Given the description of an element on the screen output the (x, y) to click on. 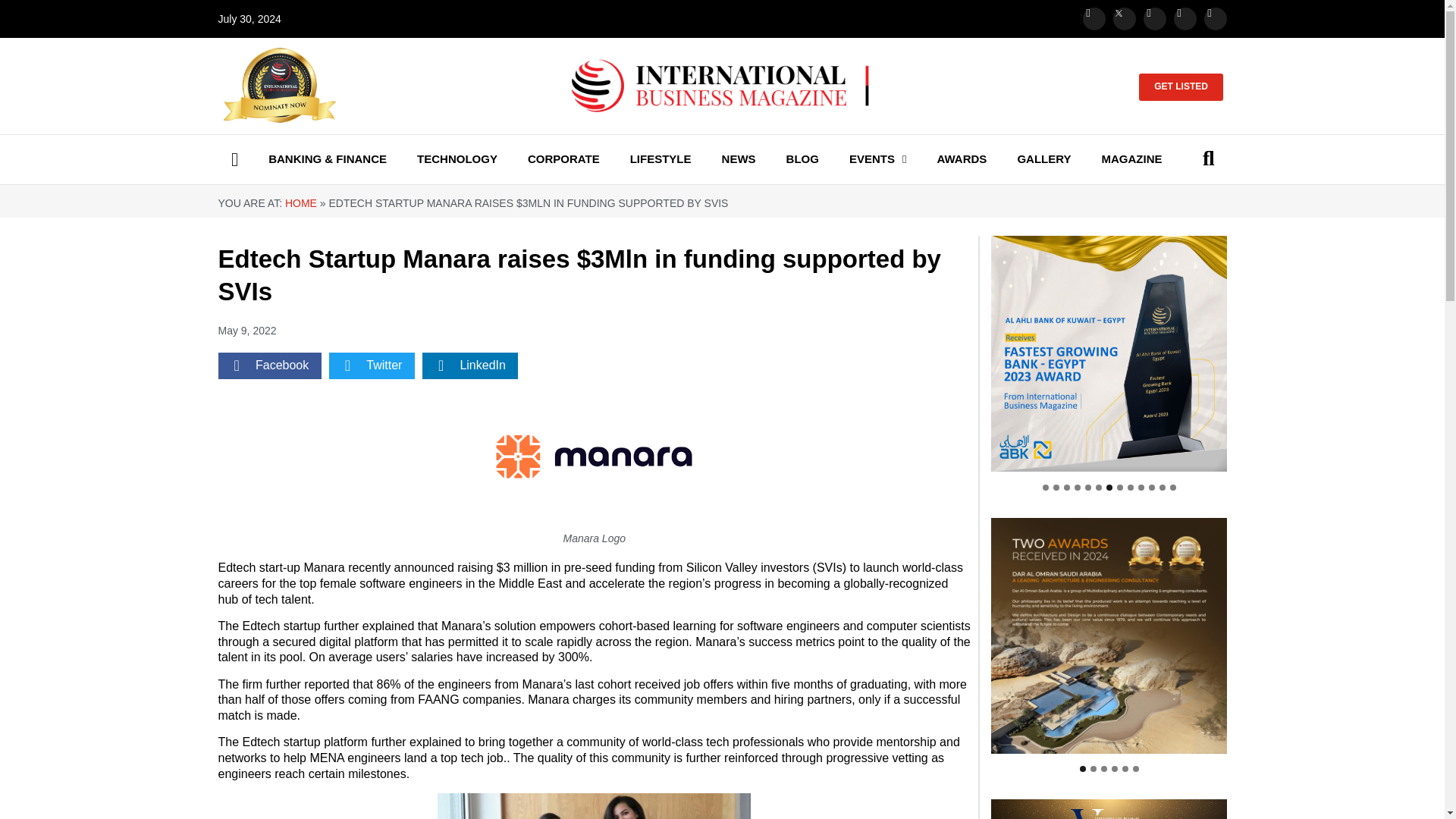
NEWS (737, 159)
MAGAZINE (1130, 159)
EVENTS (877, 159)
ABK Banner (1109, 353)
Banner Ad 1 (1109, 635)
GALLERY (1044, 159)
TECHNOLOGY (457, 159)
GET LISTED (1180, 86)
LIFESTYLE (659, 159)
BLOG (802, 159)
CORPORATE (562, 159)
AWARDS (961, 159)
